Given the description of an element on the screen output the (x, y) to click on. 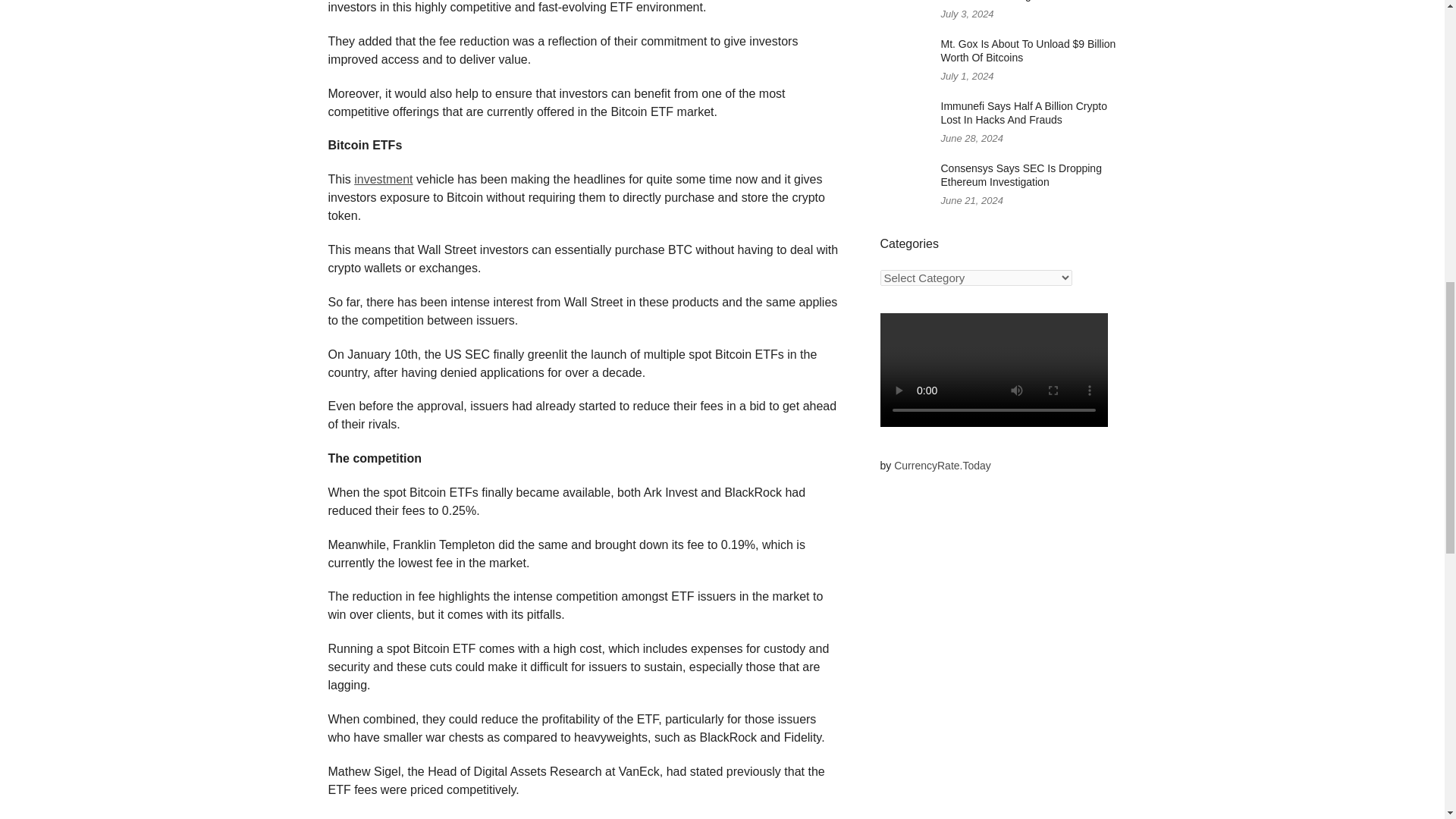
investment (382, 178)
